Given the description of an element on the screen output the (x, y) to click on. 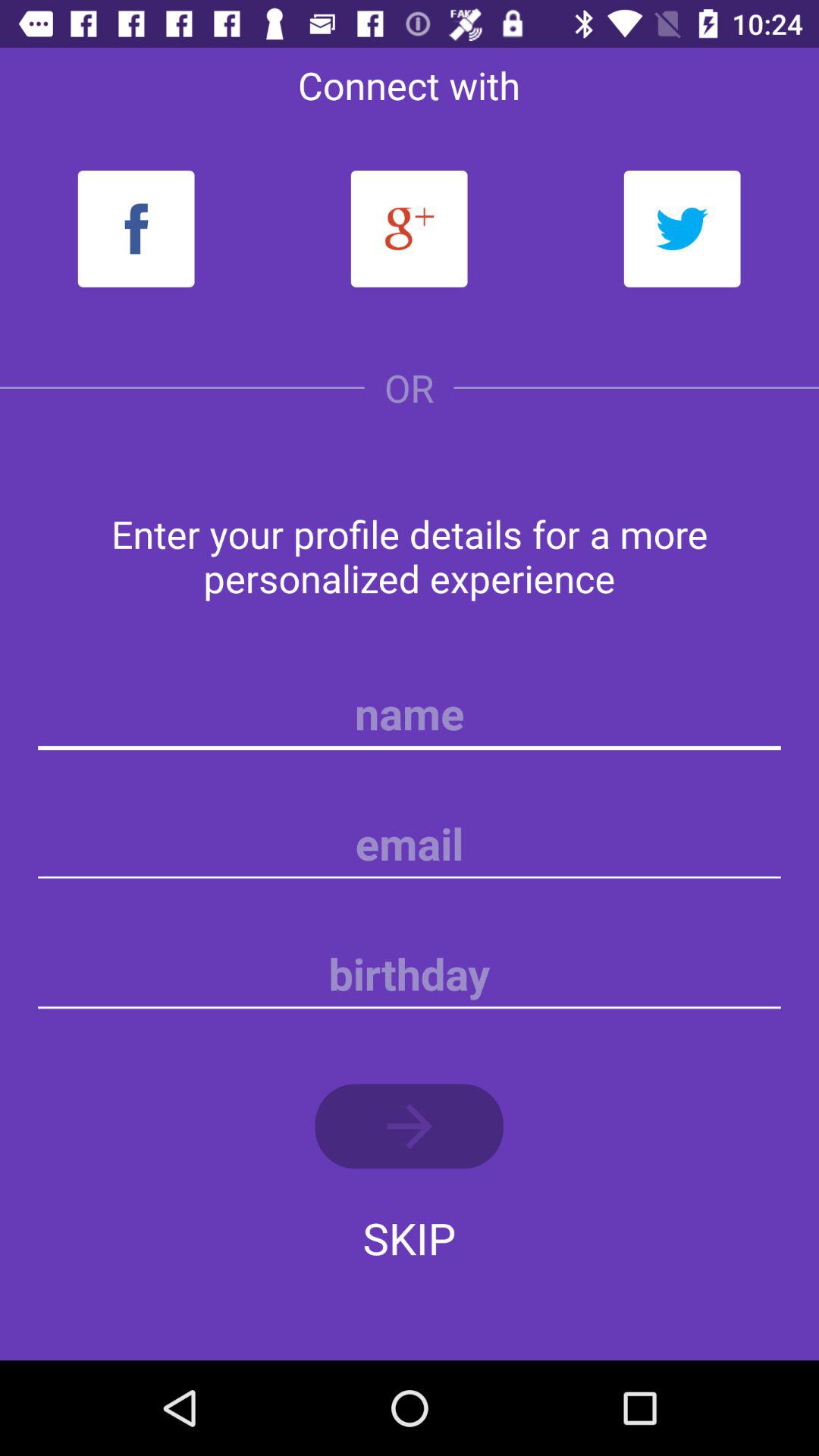
click on twitter button (682, 228)
